Given the description of an element on the screen output the (x, y) to click on. 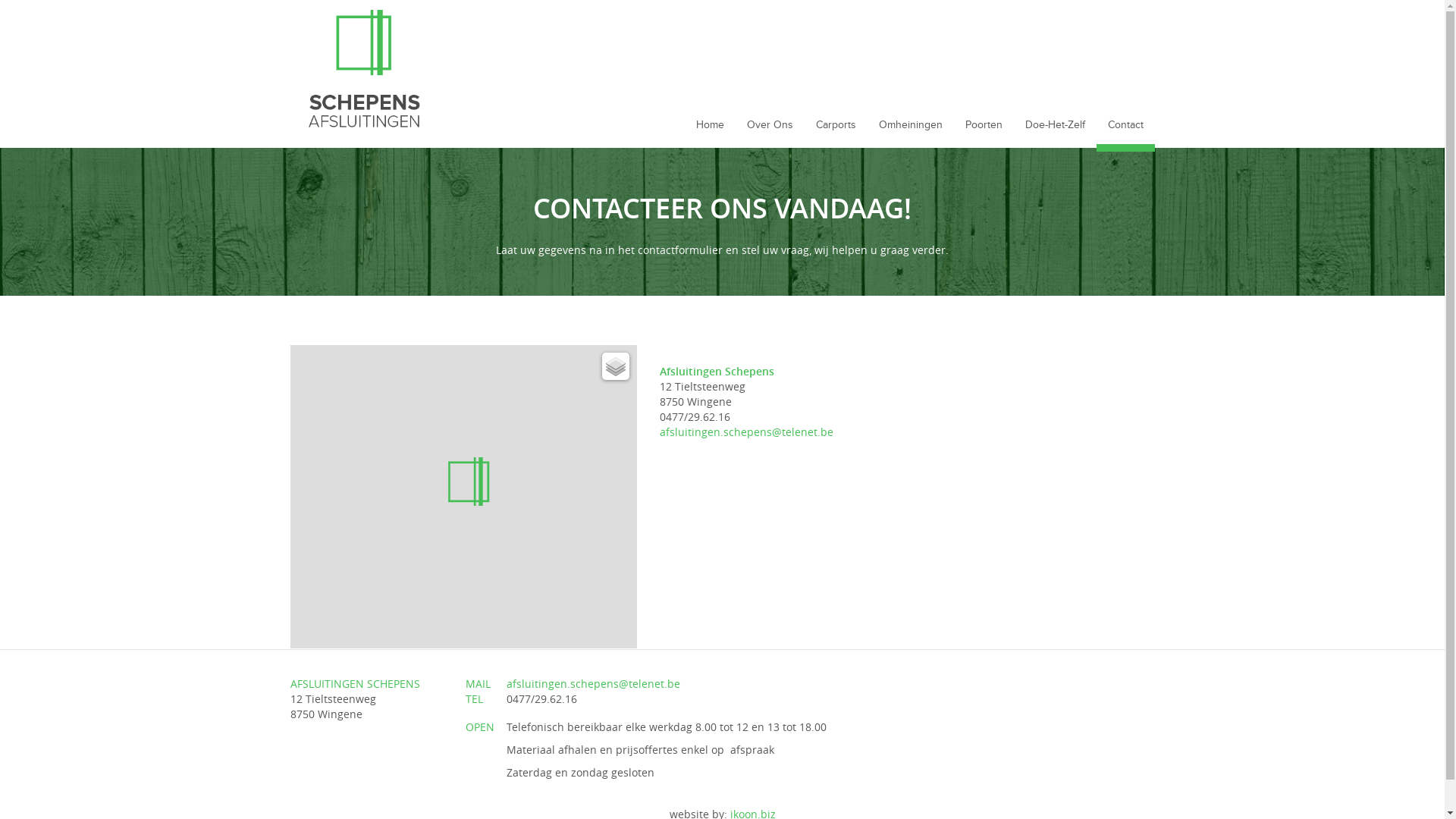
Doe-Het-Zelf Element type: text (1054, 75)
Omheiningen Element type: text (910, 75)
Carports Element type: text (834, 75)
afsluitingen.schepens@telenet.be Element type: text (593, 683)
Home Element type: hover (365, 70)
Overslaan en naar de inhoud gaan Element type: text (0, 0)
Afsluitingen Schepens Element type: hover (468, 482)
Layers Element type: hover (615, 365)
Home Element type: text (709, 75)
Contact Element type: text (1125, 75)
Over Ons Element type: text (769, 75)
Poorten Element type: text (983, 75)
afsluitingen.schepens@telenet.be Element type: text (746, 431)
